Given the description of an element on the screen output the (x, y) to click on. 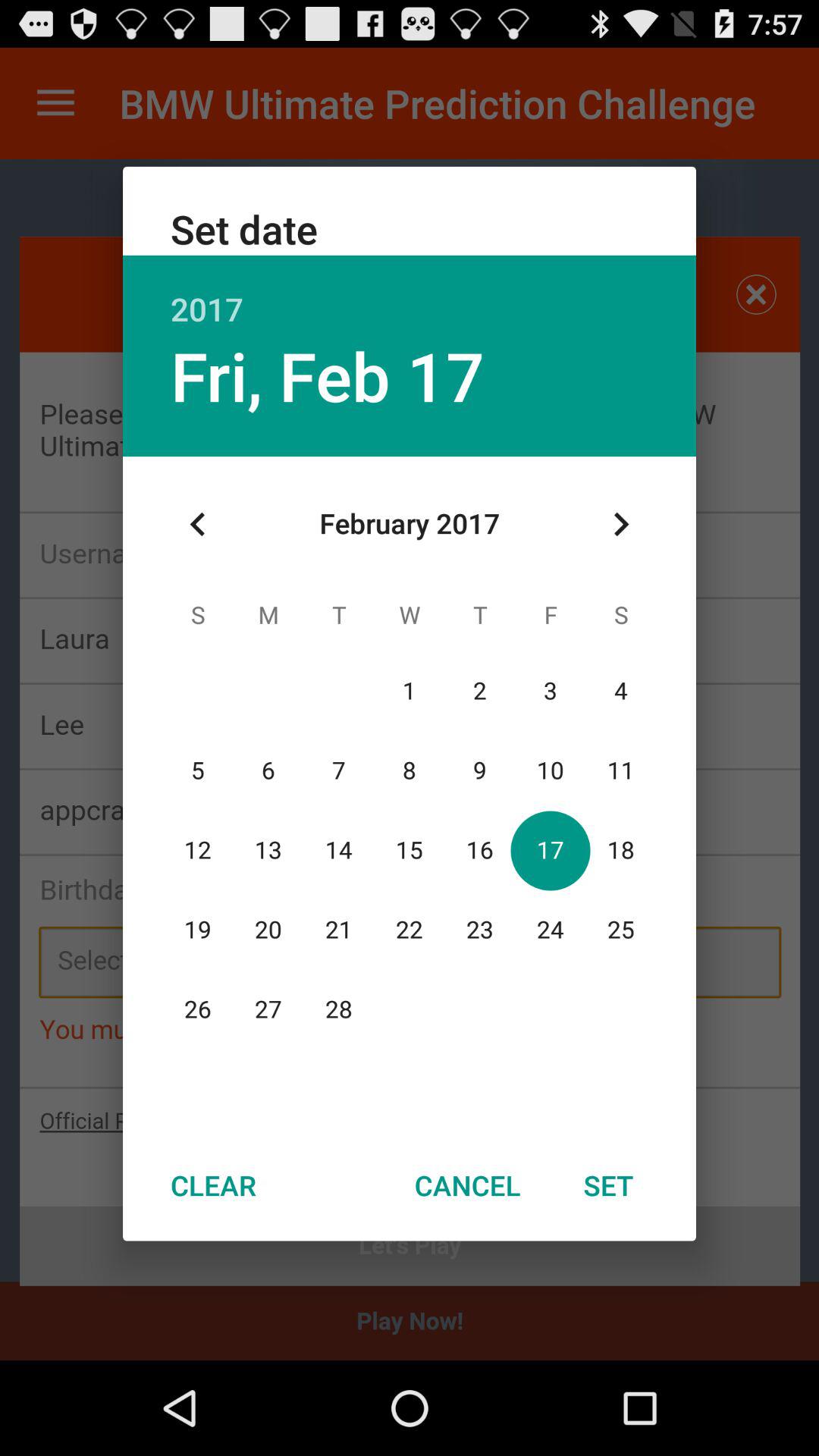
select the item below the fri, feb 17 item (197, 524)
